Given the description of an element on the screen output the (x, y) to click on. 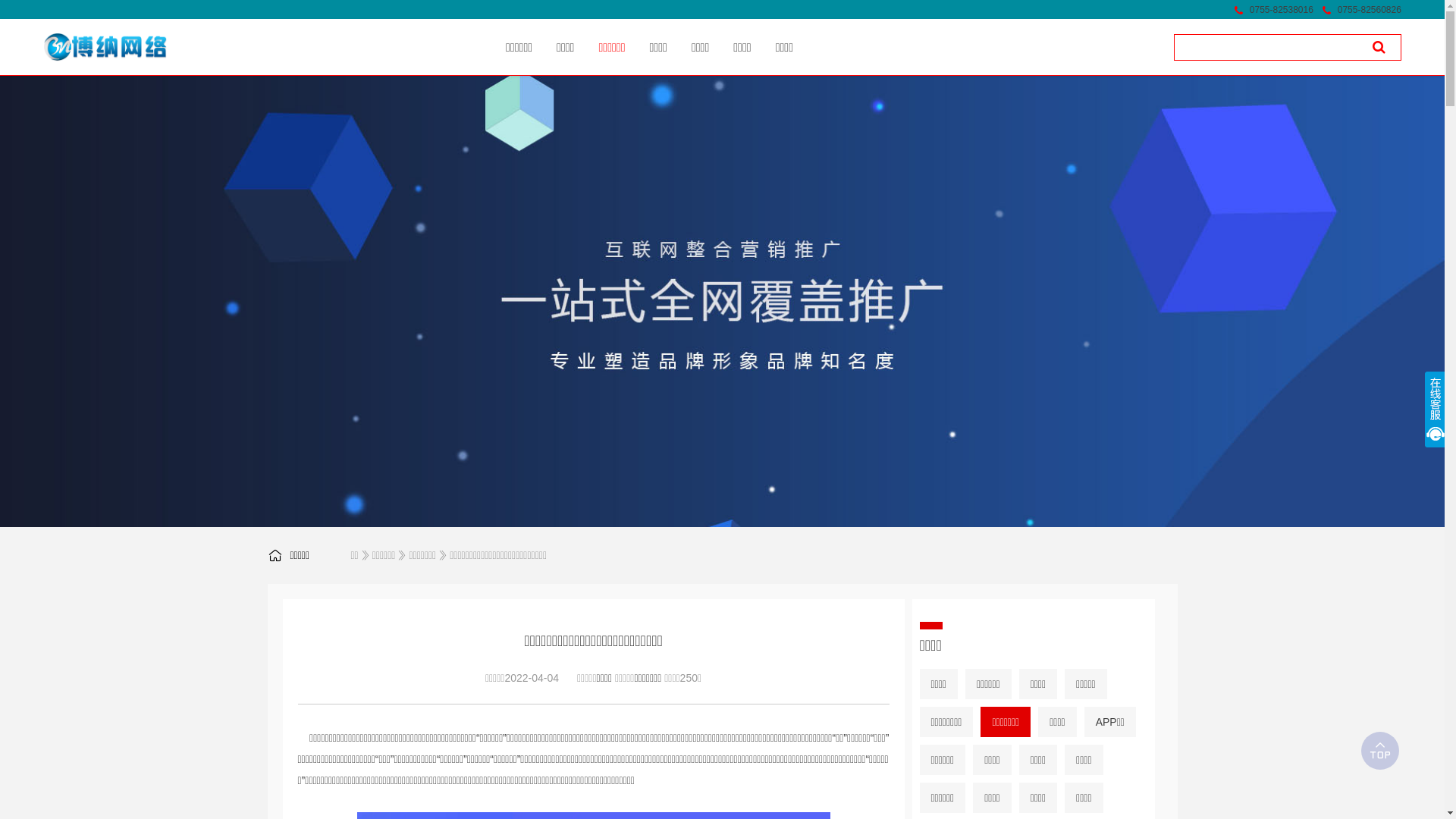
0755-82560826 Element type: text (1369, 9)
0755-82538016 Element type: text (1281, 9)
